Given the description of an element on the screen output the (x, y) to click on. 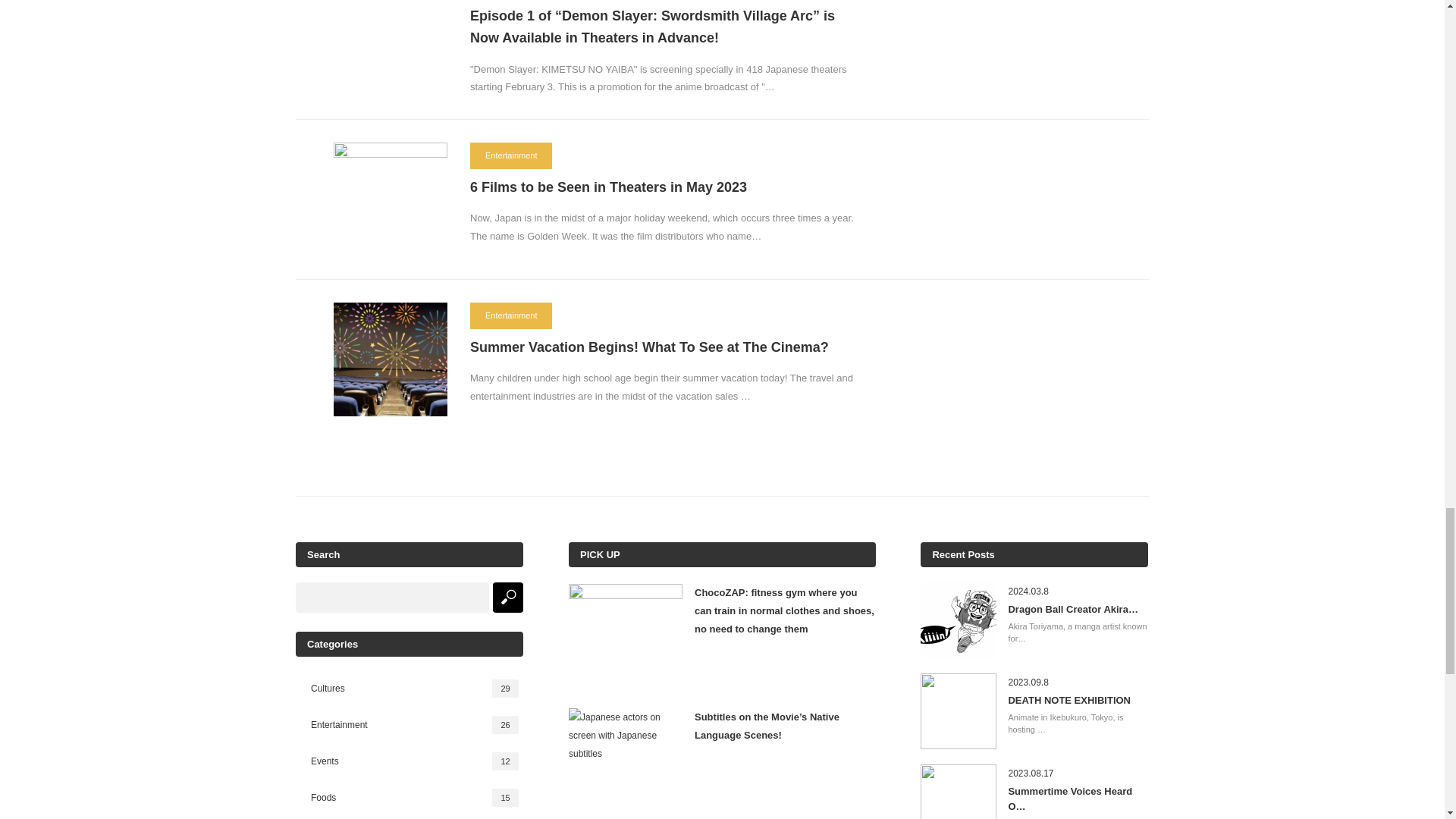
Entertainment (510, 155)
6 Films to be Seen in Theaters in May 2023 (663, 187)
Search (507, 597)
Entertainment (510, 315)
